Given the description of an element on the screen output the (x, y) to click on. 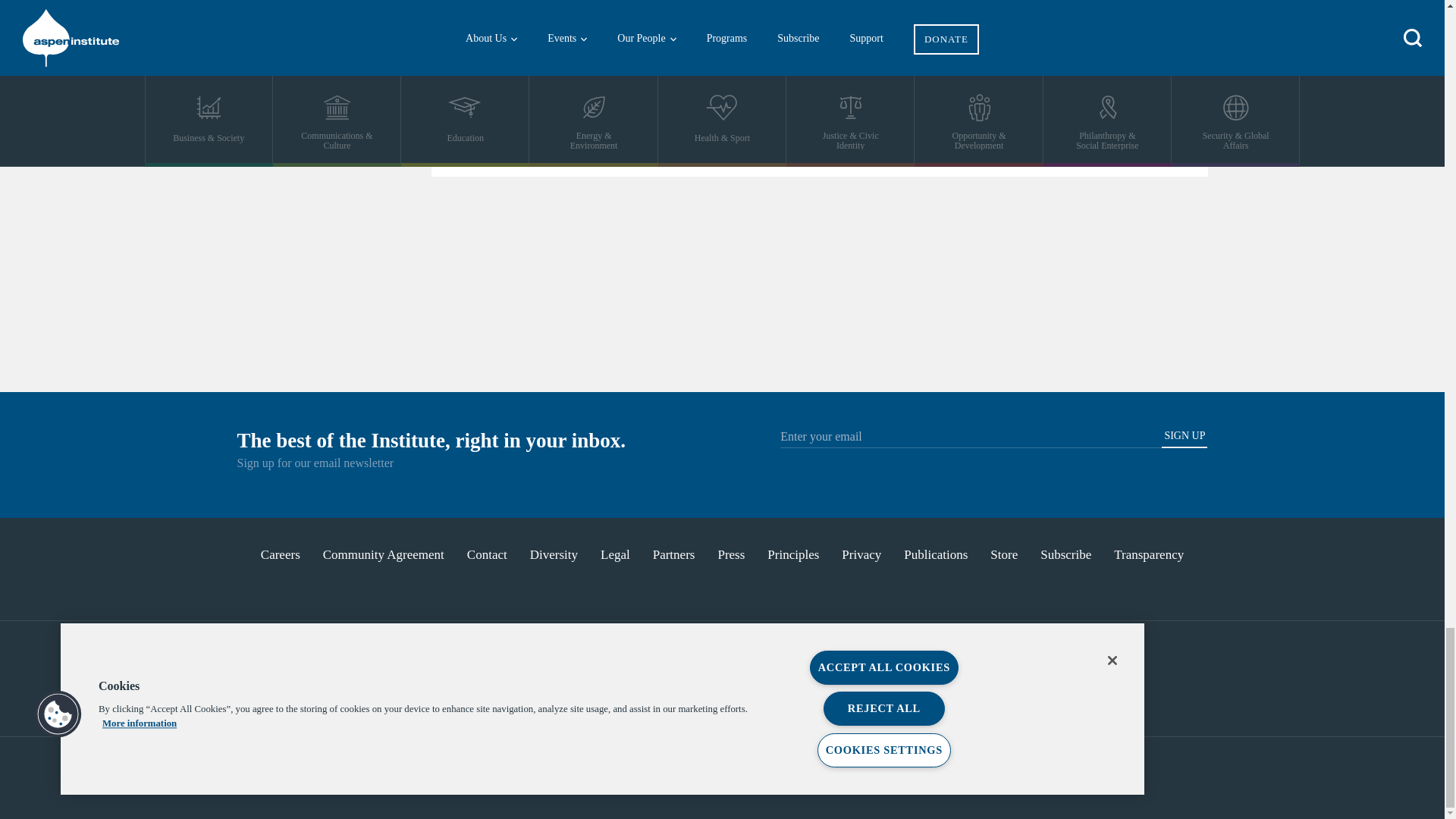
SIGN UP (1184, 438)
